Given the description of an element on the screen output the (x, y) to click on. 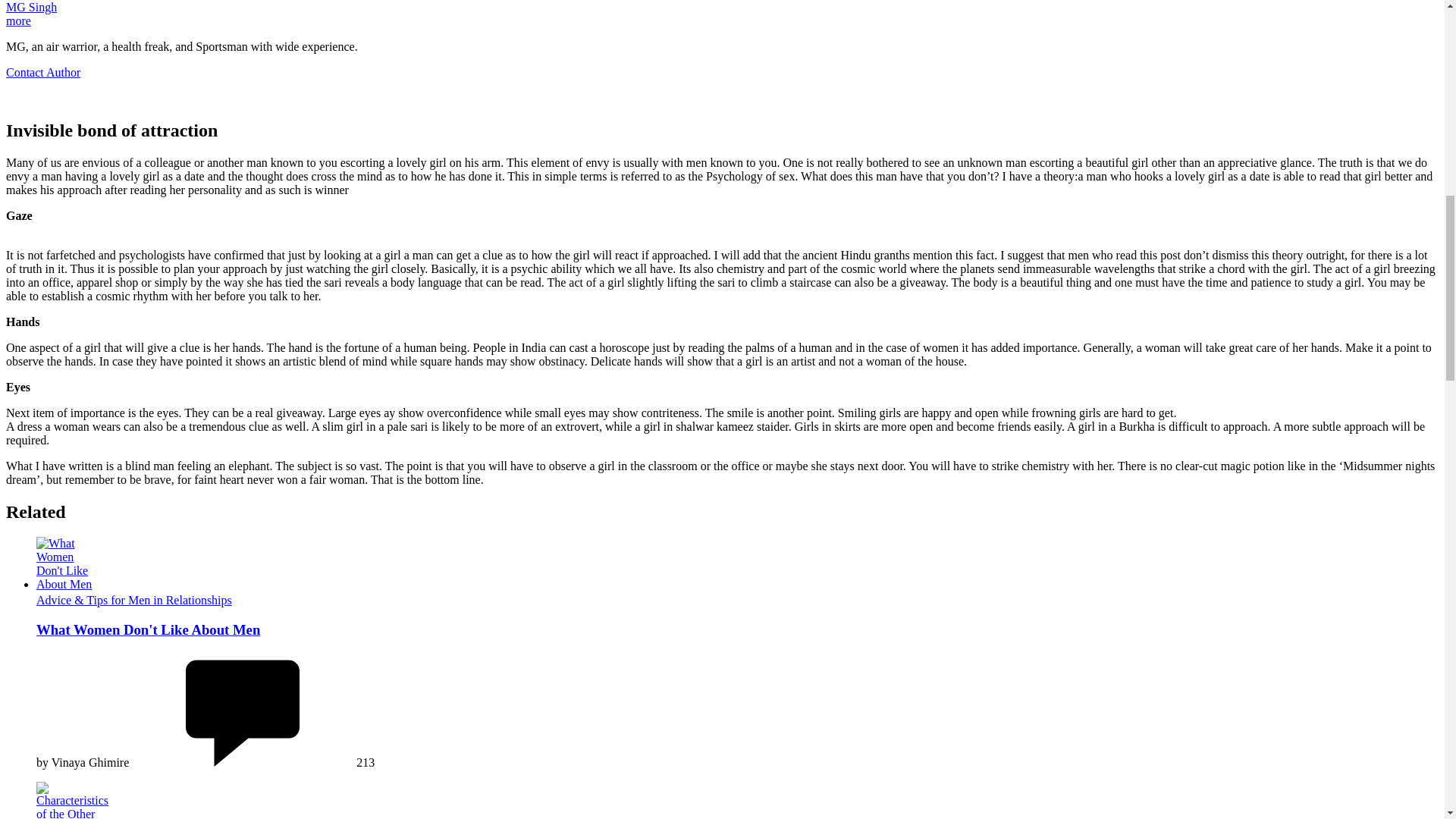
Characteristics of the Other Woman: Why Men Cheat (71, 800)
Contact Author (42, 72)
What Women Don't Like About Men (148, 629)
What Women Don't Like About Men (64, 564)
